Given the description of an element on the screen output the (x, y) to click on. 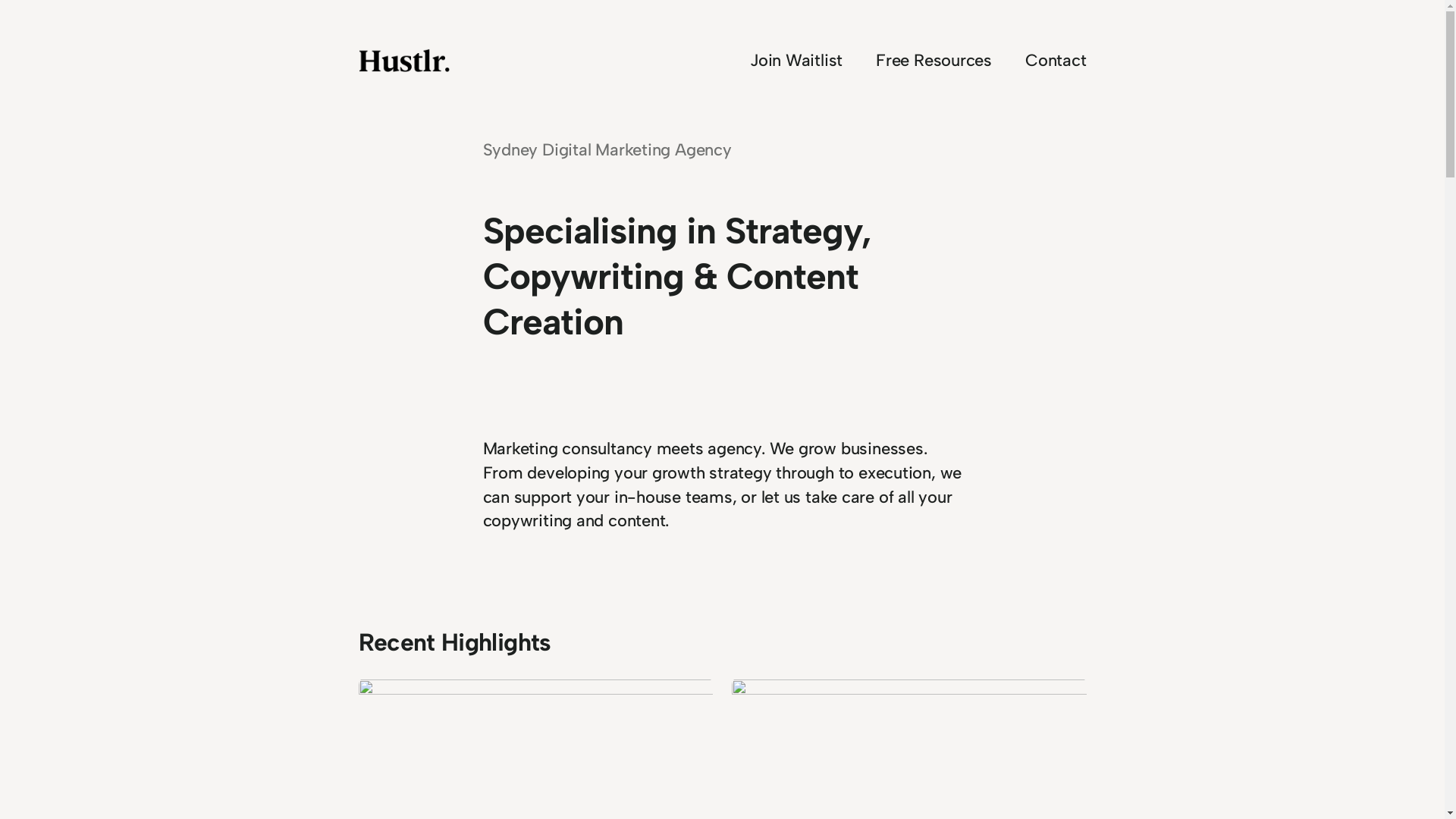
Free Resources Element type: text (933, 60)
Join Waitlist Element type: text (795, 60)
Contact Element type: text (1055, 60)
